Given the description of an element on the screen output the (x, y) to click on. 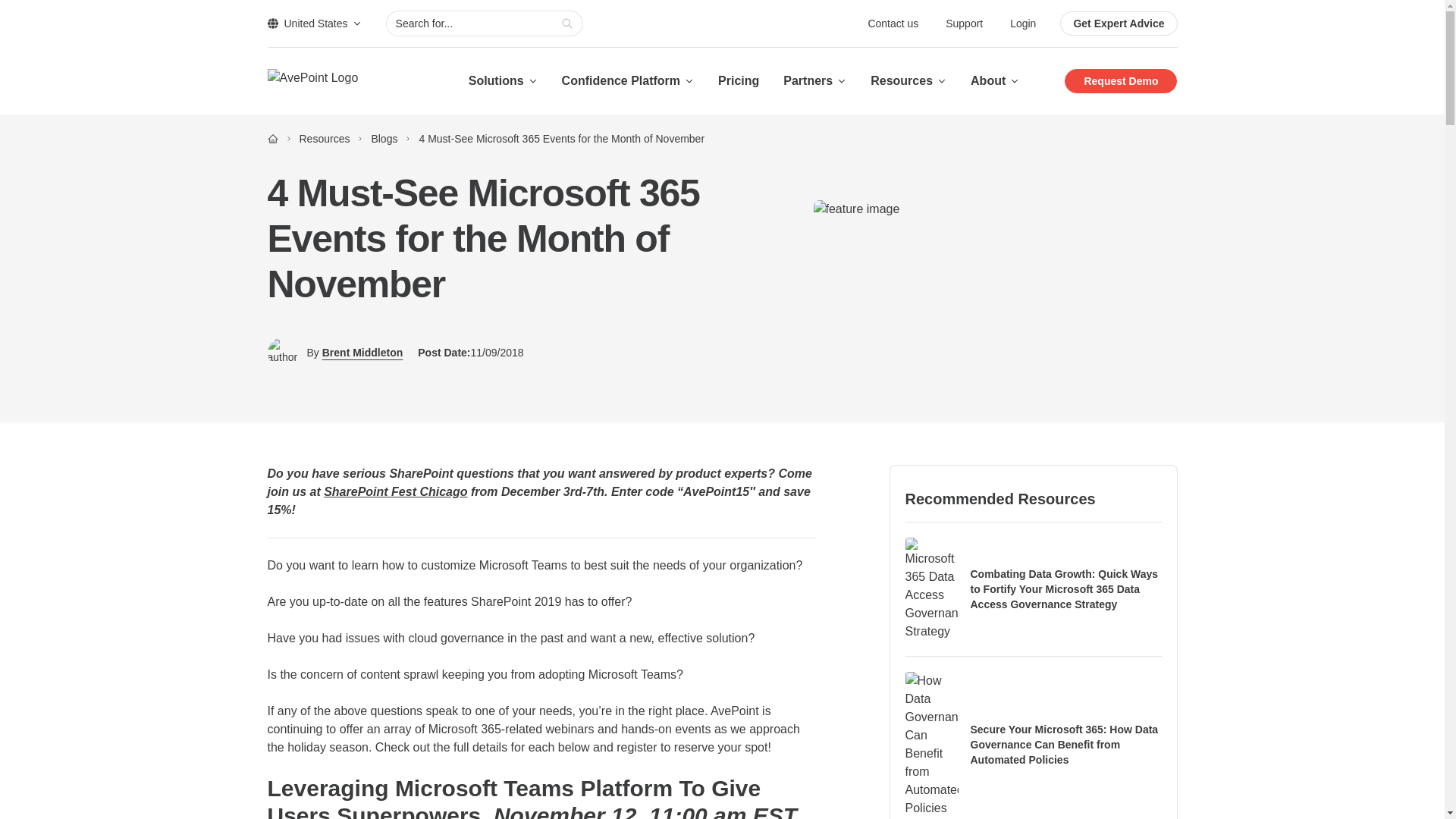
Support (964, 23)
Solutions (502, 80)
Get Expert Advice (1117, 23)
Contact us (894, 23)
Login (1022, 23)
Confidence Platform (628, 80)
United States (313, 23)
Search (566, 23)
